Given the description of an element on the screen output the (x, y) to click on. 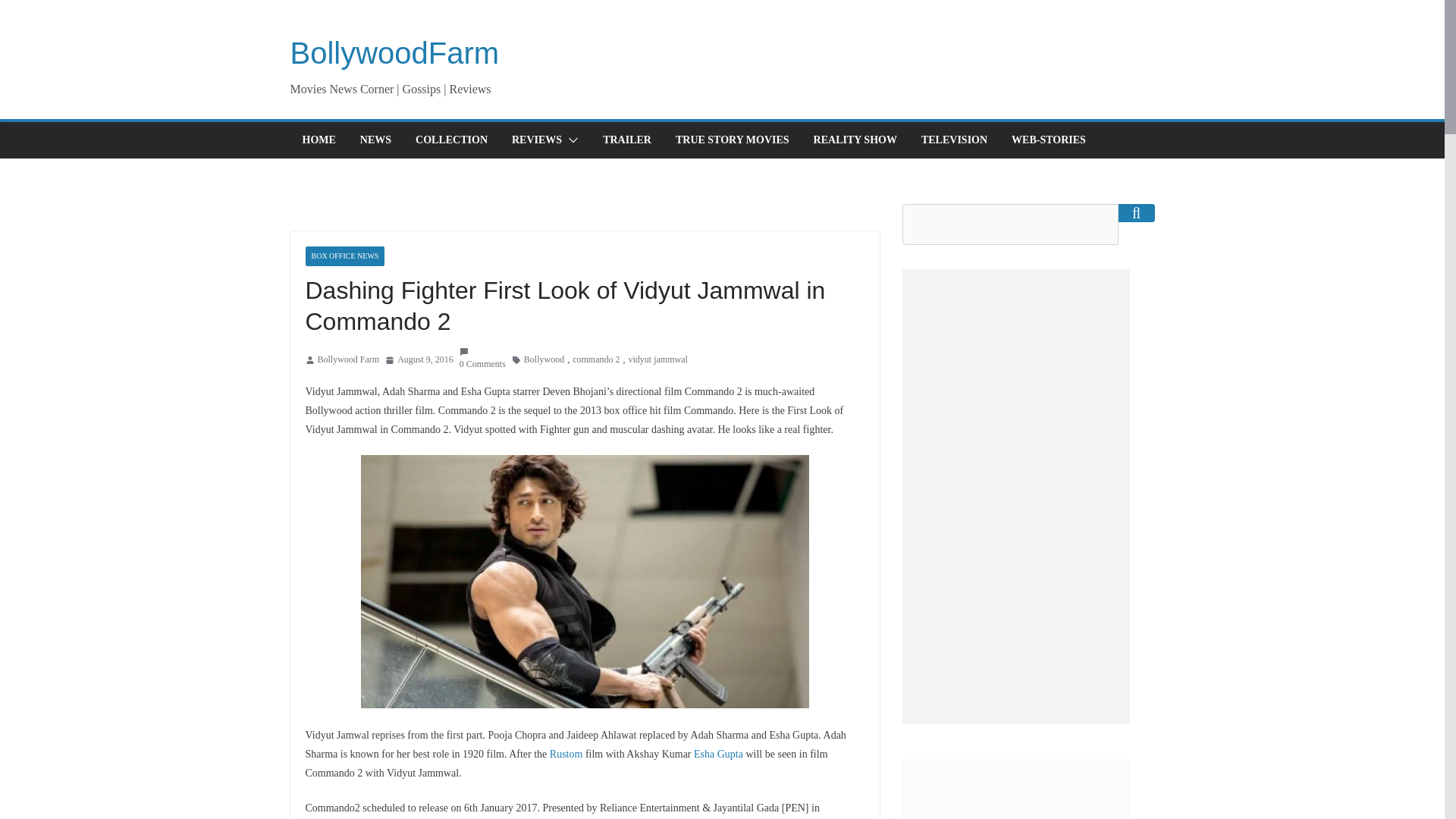
Rustom (566, 754)
Bollywood Farm (347, 360)
TRUE STORY MOVIES (732, 139)
Esha Gupta (718, 754)
COLLECTION (450, 139)
vidyut jammwal (657, 360)
REVIEWS (537, 139)
9:25 am (418, 360)
REALITY SHOW (854, 139)
TELEVISION (954, 139)
